Given the description of an element on the screen output the (x, y) to click on. 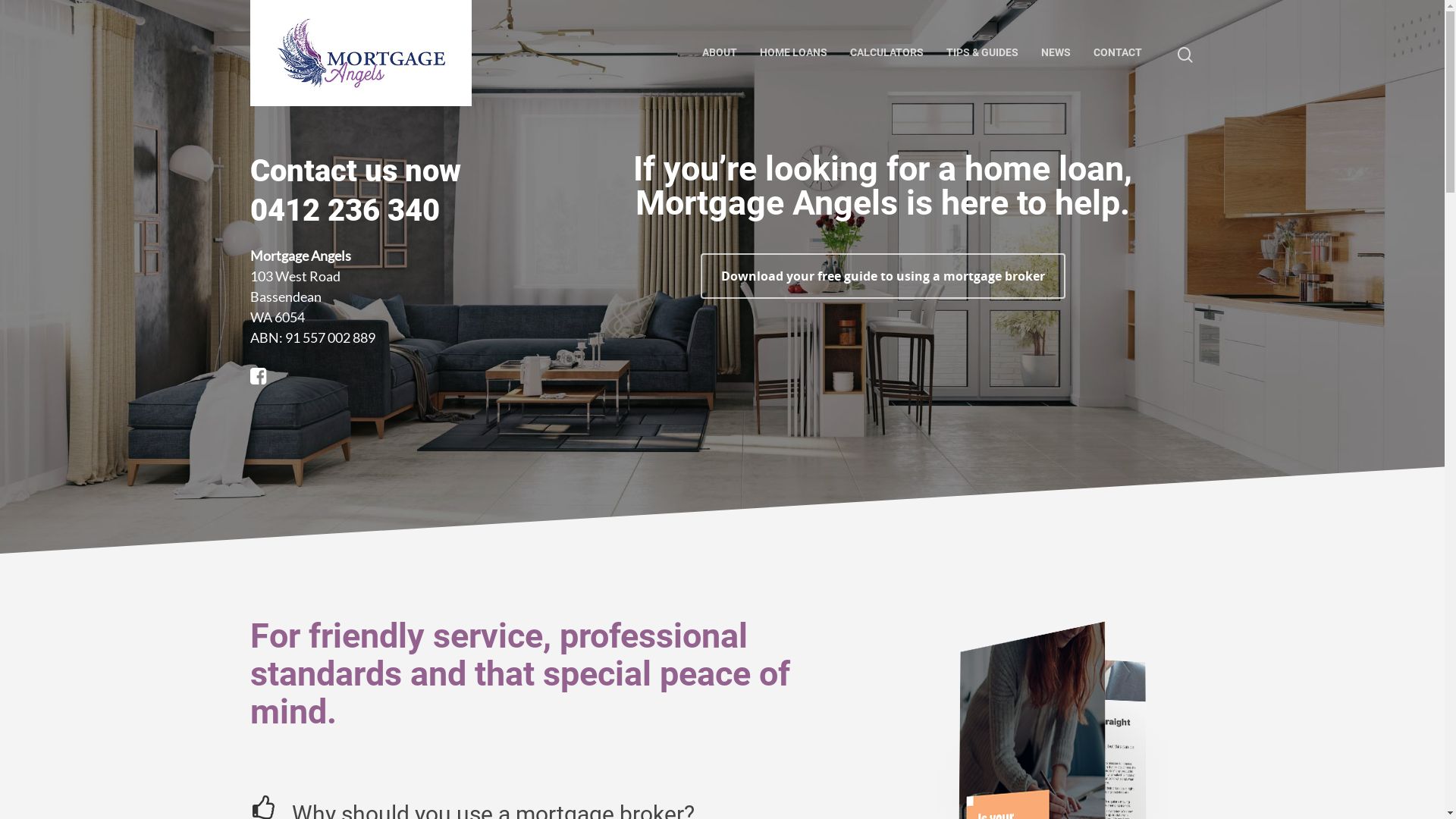
TIPS & GUIDES Element type: text (982, 52)
HOME LOANS Element type: text (793, 52)
ABOUT Element type: text (719, 52)
NEWS Element type: text (1055, 52)
CONTACT Element type: text (1117, 52)
0412 236 340 Element type: text (344, 210)
Download your free guide to using a mortgage broker Element type: text (882, 275)
CALCULATORS Element type: text (886, 52)
